Given the description of an element on the screen output the (x, y) to click on. 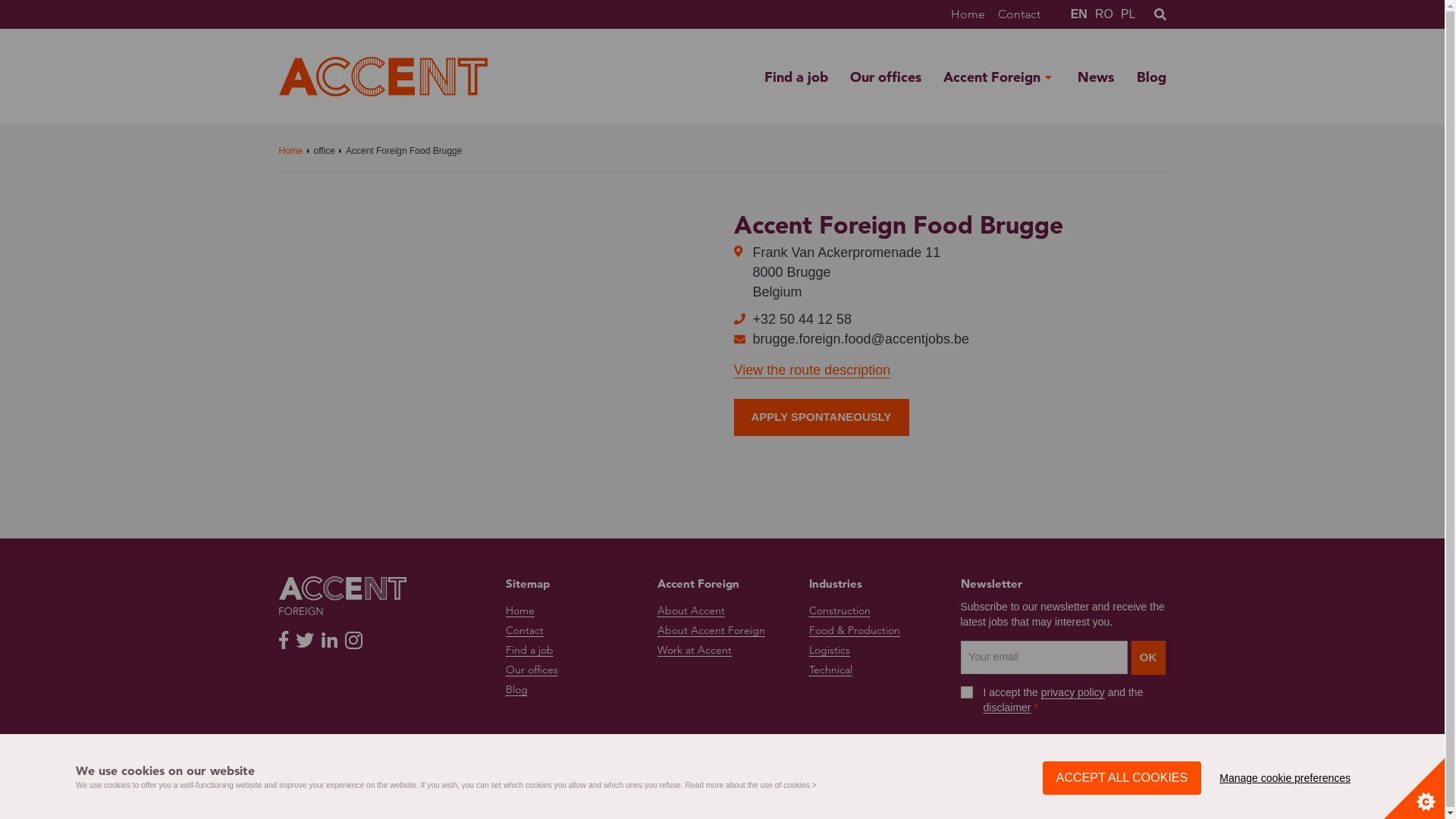
Food & Production Element type: text (853, 630)
APPLY SPONTANEOUSLY Element type: text (821, 417)
Skip to main content Element type: text (0, 0)
Work at Accent Element type: text (693, 650)
http://facebook.com/accentjobs Element type: text (283, 639)
Blog Element type: text (516, 689)
Construction Element type: text (838, 610)
http://linkedin.com/company/880647 Element type: text (329, 639)
Home Element type: hover (383, 76)
Home Element type: text (967, 14)
Home Element type: text (291, 150)
About Accent Element type: text (690, 610)
Technical Element type: text (829, 669)
http://twitter.com/accent_jobs Element type: text (304, 639)
https://www.houseofhr.com/ Element type: text (1109, 781)
Read more about the use of cookies > Element type: text (749, 785)
OK Element type: text (1148, 657)
ACCEPT ALL COOKIES Element type: text (1121, 777)
Search Element type: text (1140, 13)
Our offices Element type: text (531, 669)
Accent Foreign Element type: text (991, 76)
Find a job Element type: text (528, 650)
http://instagram.com/accent.jobs Element type: text (353, 639)
Privacy Element type: text (480, 793)
Find a job Element type: text (796, 76)
disclaimer Element type: text (1006, 707)
Contact Element type: text (1018, 14)
brugge.foreign.food@accentjobs.be Element type: text (860, 338)
RO Element type: text (1104, 14)
EN Element type: text (1078, 14)
Home Element type: text (519, 610)
About Accent Foreign Element type: text (710, 630)
+32 50 44 12 58 Element type: text (801, 319)
Contact Element type: text (523, 630)
Blog Element type: text (1150, 76)
News Element type: text (1095, 76)
privacy policy Element type: text (1072, 692)
Logistics Element type: text (828, 650)
Our offices Element type: text (885, 76)
Disclaimer Element type: text (438, 793)
Manage cookie preferences Element type: text (1284, 778)
PL Element type: text (1127, 14)
View the route description Element type: text (812, 369)
